Given the description of an element on the screen output the (x, y) to click on. 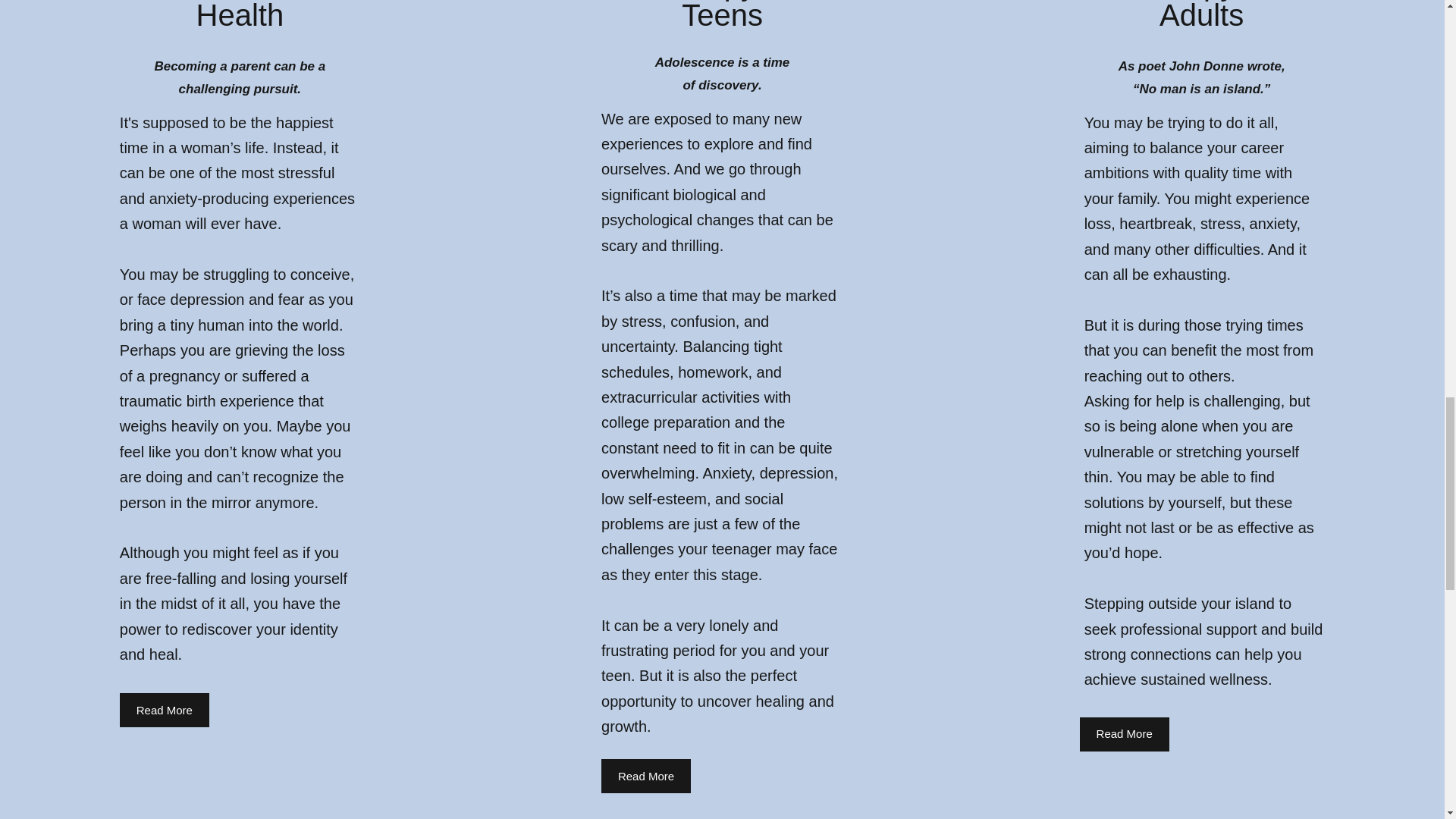
Read More (645, 776)
Read More (164, 709)
Read More (1124, 734)
